Given the description of an element on the screen output the (x, y) to click on. 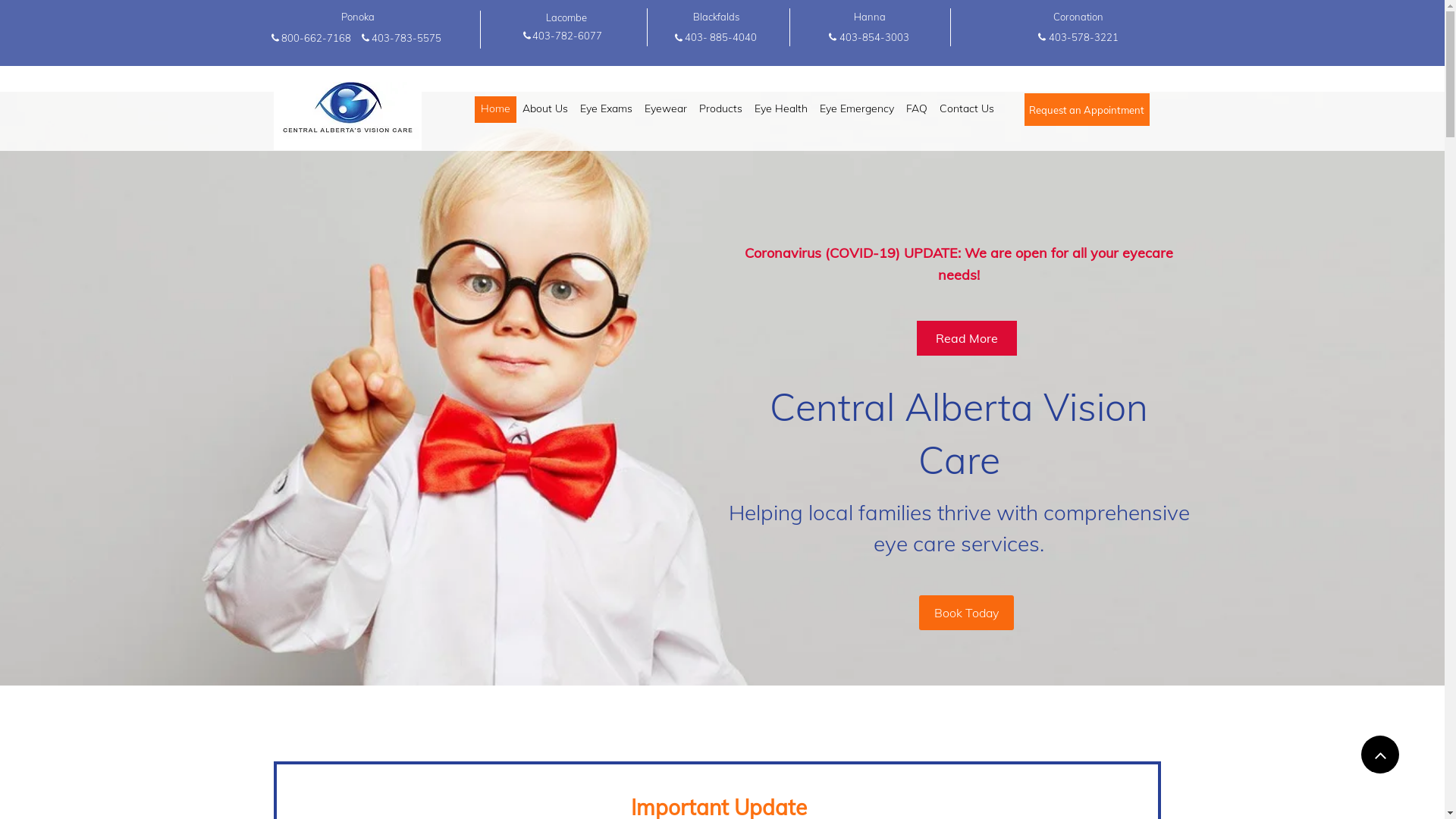
Eye Emergency Element type: text (855, 109)
800-662-7168 Element type: text (316, 37)
Read More Element type: text (966, 337)
About Us Element type: text (544, 109)
FAQ Element type: text (915, 109)
403-578-3221 Element type: text (1082, 37)
Products Element type: text (720, 109)
403-854-3003 Element type: text (874, 37)
Request an Appointment Element type: text (1085, 109)
Home Element type: text (495, 109)
 403-782-6077 Element type: text (566, 35)
403-783-5575 Element type: text (406, 37)
403- 885-4040 Element type: text (720, 37)
Book Today Element type: text (966, 612)
Contact Us Element type: text (965, 109)
